Given the description of an element on the screen output the (x, y) to click on. 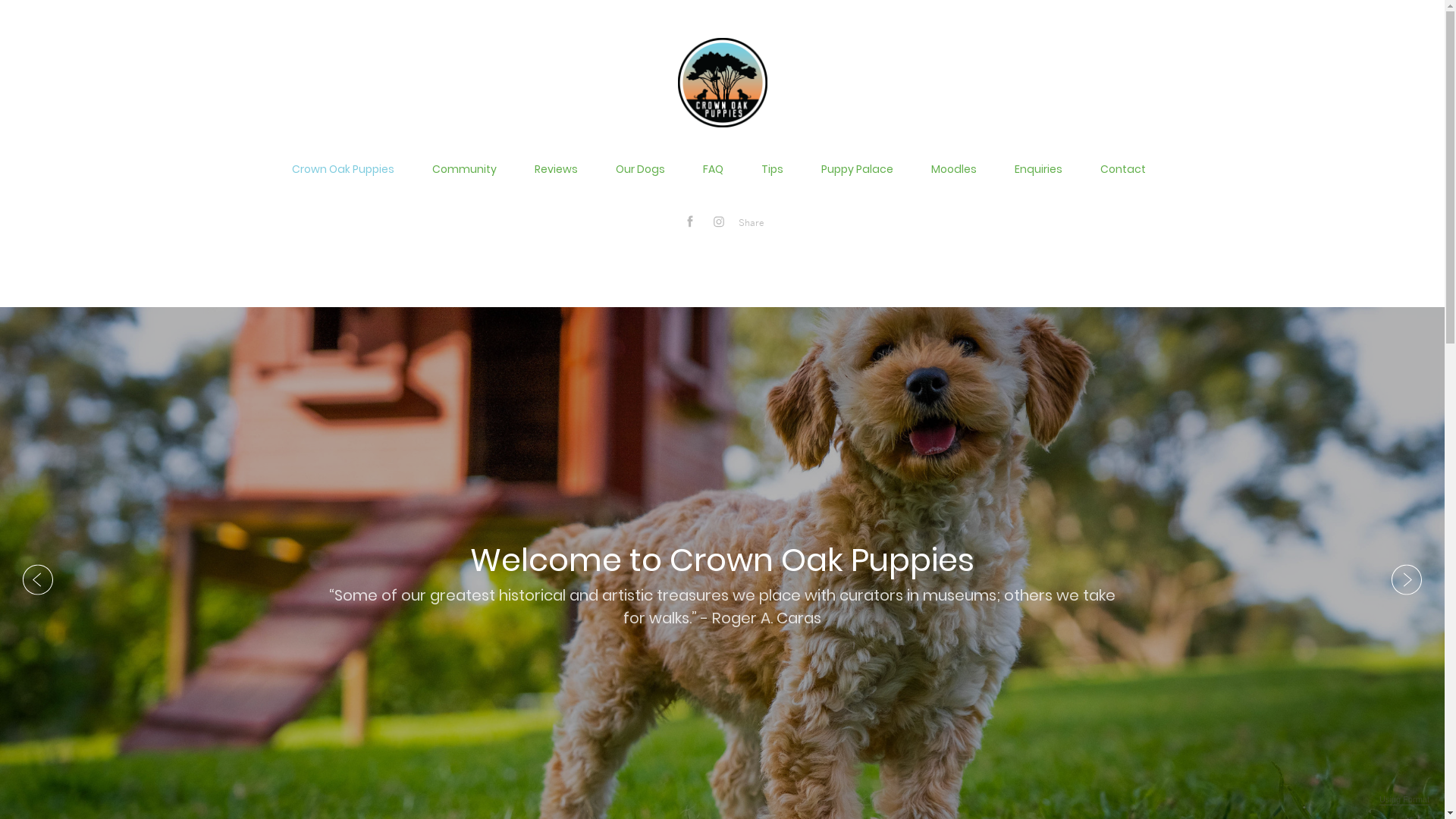
Our Dogs Element type: text (640, 168)
Using Format Element type: text (1404, 799)
FAQ Element type: text (712, 168)
Reviews Element type: text (555, 168)
Tips Element type: text (772, 168)
Share Element type: text (751, 222)
Puppy Palace Element type: text (856, 168)
Enquiries Element type: text (1038, 168)
Contact Element type: text (1122, 168)
Moodles Element type: text (953, 168)
Crown Oak Puppies Element type: text (342, 168)
Community Element type: text (464, 168)
